Given the description of an element on the screen output the (x, y) to click on. 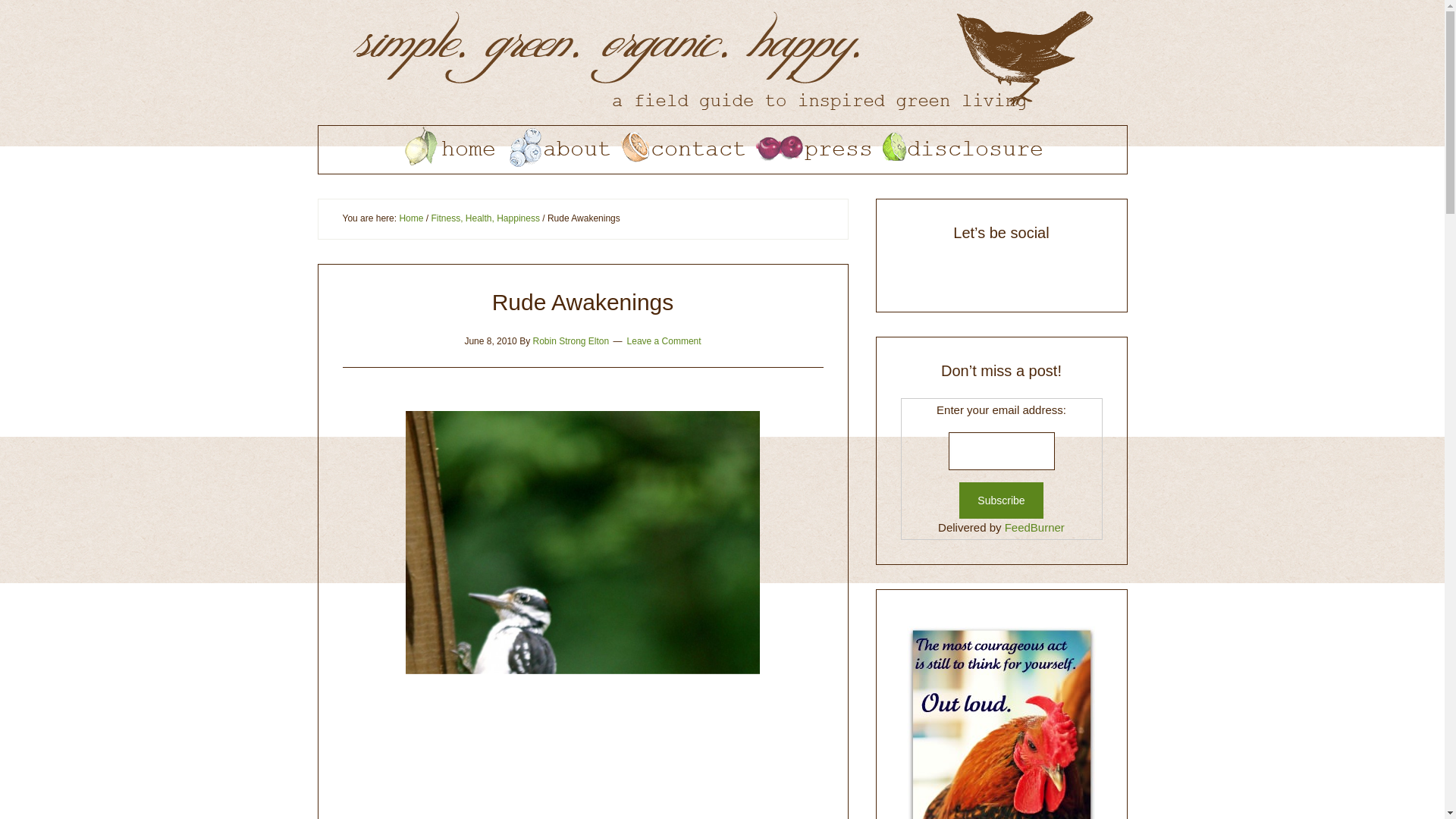
Robin Strong Elton (570, 339)
Home (410, 217)
Subscribe (1000, 500)
Subscribe (1000, 500)
simple.green.organic.happy. (721, 62)
Fitness, Health, Happiness (484, 217)
FeedBurner (1034, 526)
Leave a Comment (664, 339)
